Given the description of an element on the screen output the (x, y) to click on. 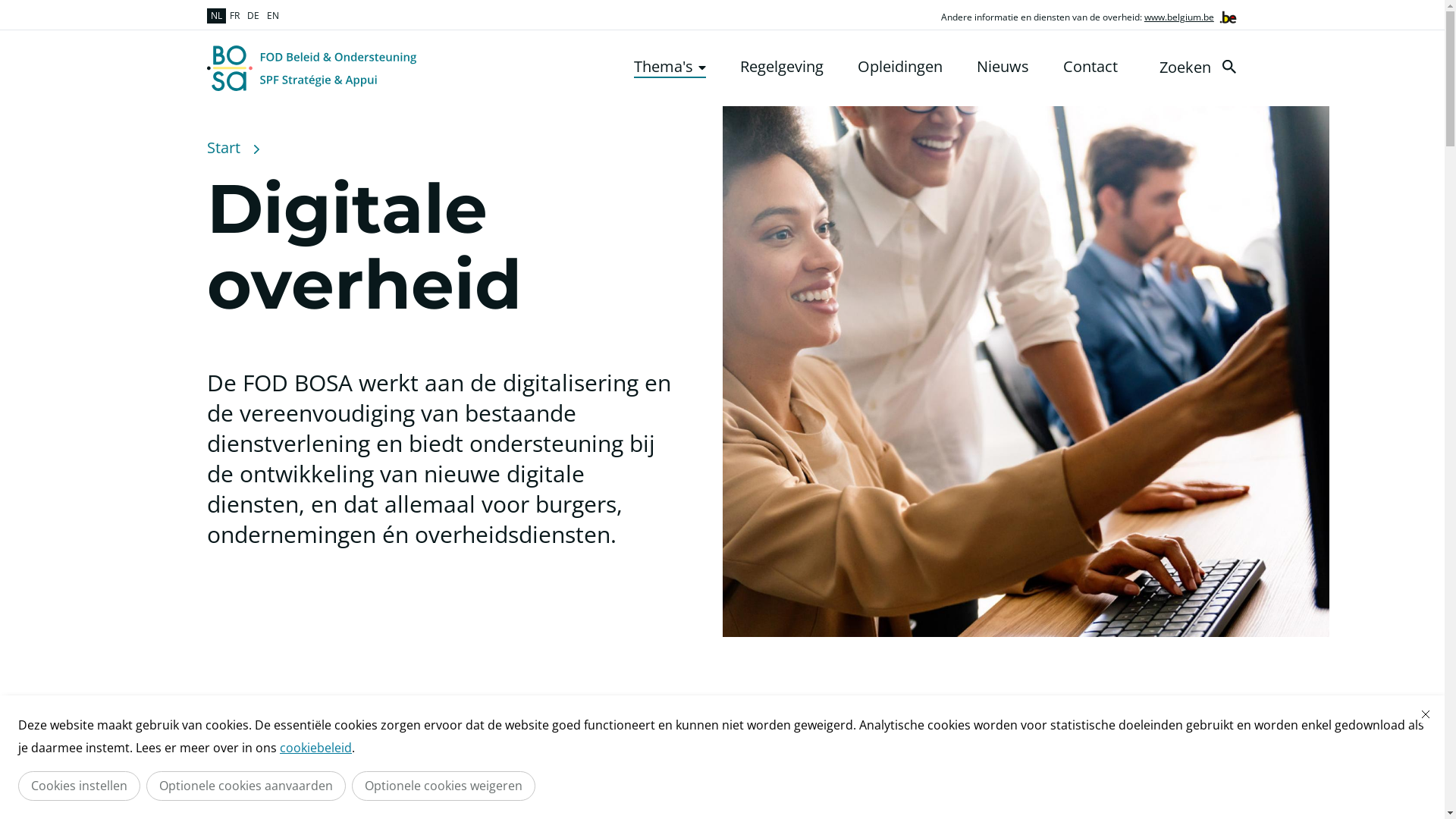
EN Element type: text (272, 15)
www.belgium.be Element type: text (1179, 16)
Sluiten Element type: hover (1425, 714)
Opleidingen Element type: text (898, 66)
cookiebeleid Element type: text (315, 747)
Start Element type: text (222, 147)
Optionele cookies aanvaarden Element type: text (245, 785)
FR Element type: text (234, 15)
Optionele cookies weigeren Element type: text (443, 785)
Regelgeving Element type: text (781, 66)
Nieuws Element type: text (1002, 66)
Back to BOSA home page Element type: hover (311, 68)
DE Element type: text (252, 15)
Cookies instellen Element type: text (79, 785)
NL Element type: text (215, 15)
Zoeken Element type: hover (1200, 66)
Contact Element type: text (1090, 66)
Overslaan en naar de inhoud gaan Element type: text (7, 4)
Toepassen Element type: text (1228, 66)
Thema's Element type: text (669, 66)
